Given the description of an element on the screen output the (x, y) to click on. 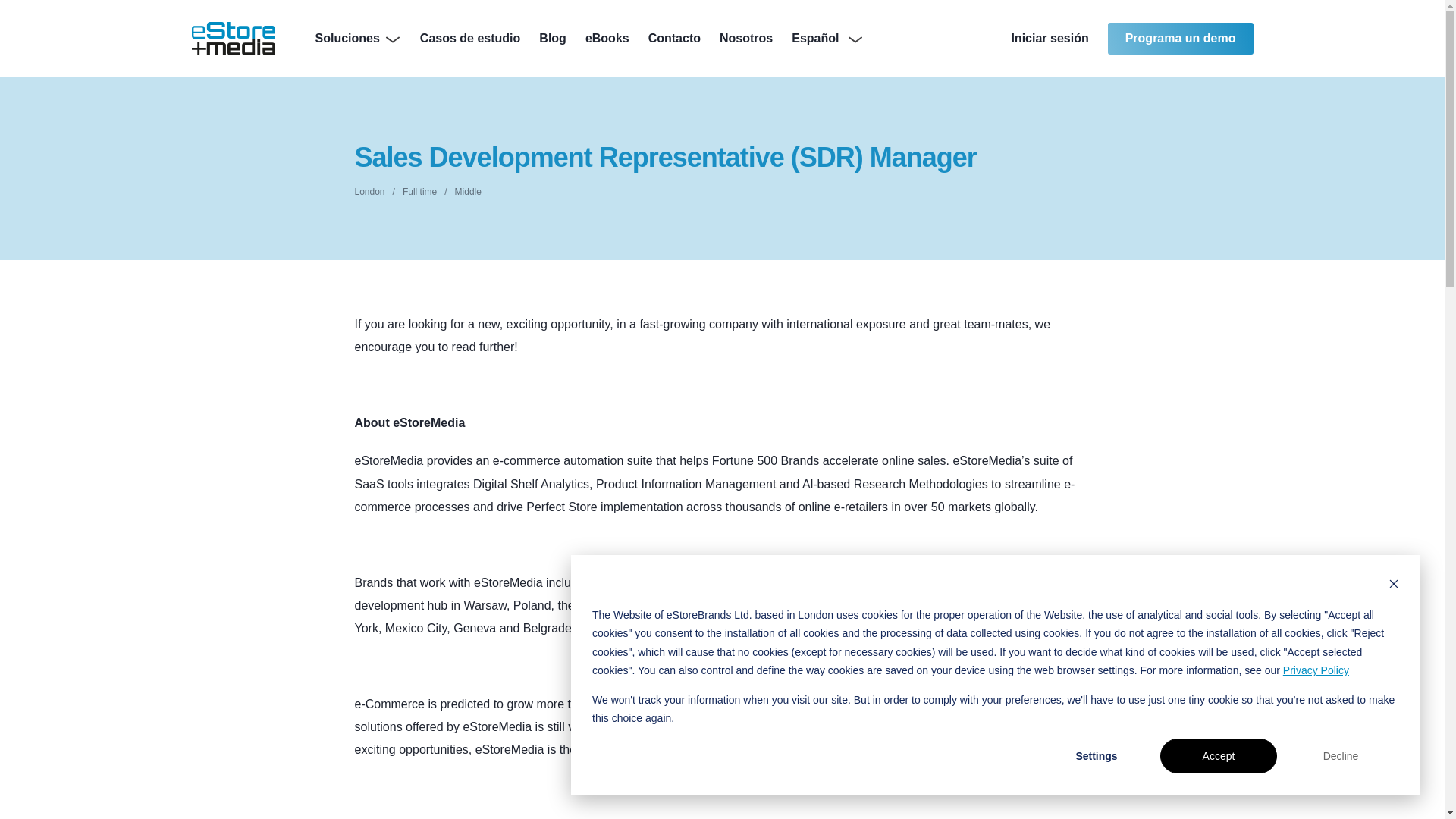
Contacto (673, 38)
Nosotros (746, 38)
Casos de estudio (469, 38)
eBooks (606, 38)
Programa un demo (1180, 38)
Blog (552, 38)
Programa un demo (1180, 38)
